Given the description of an element on the screen output the (x, y) to click on. 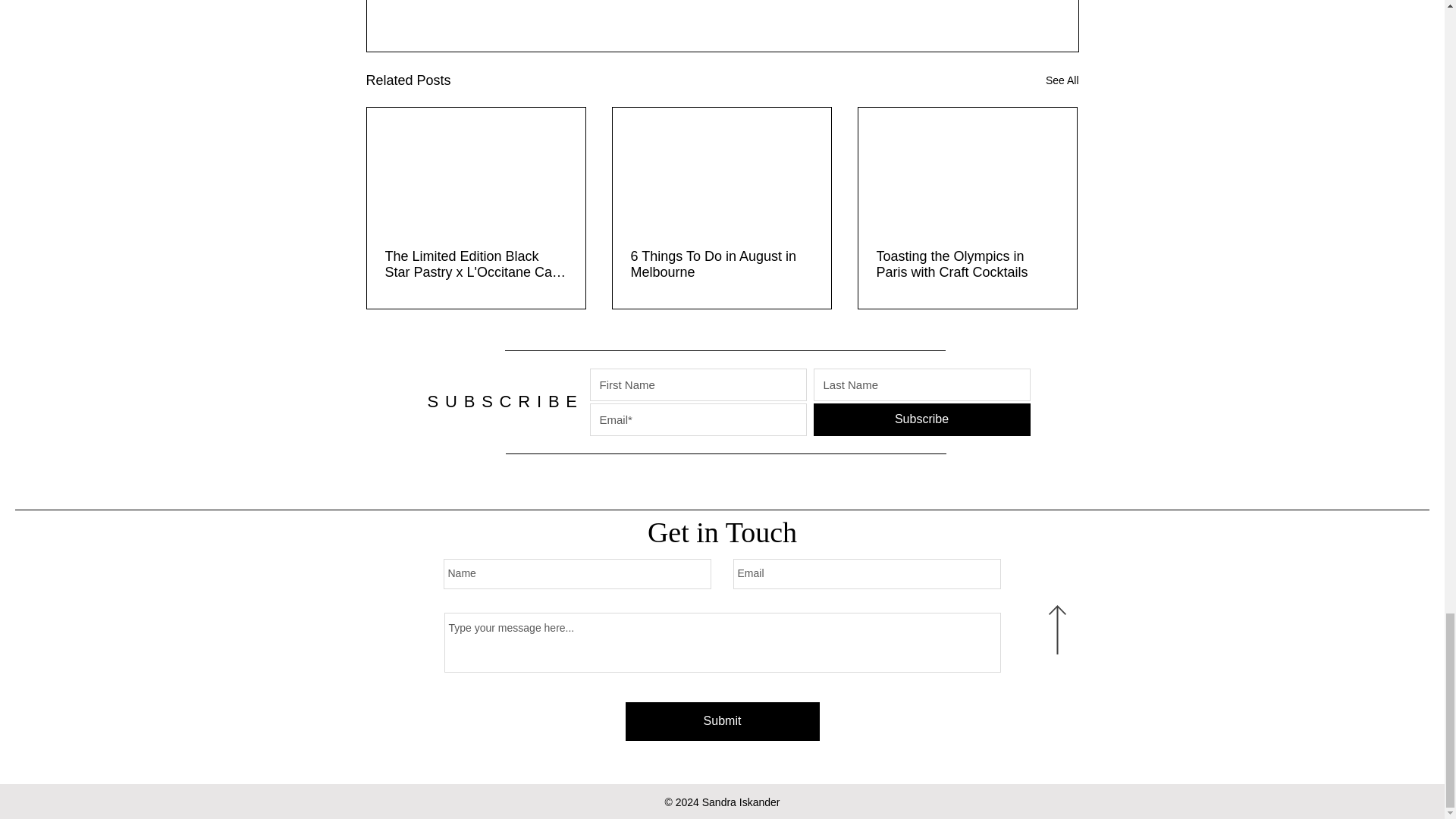
Toasting the Olympics in Paris with Craft Cocktails (967, 264)
Subscribe (920, 419)
6 Things To Do in August in Melbourne (721, 264)
See All (1061, 80)
Submit (721, 721)
